Given the description of an element on the screen output the (x, y) to click on. 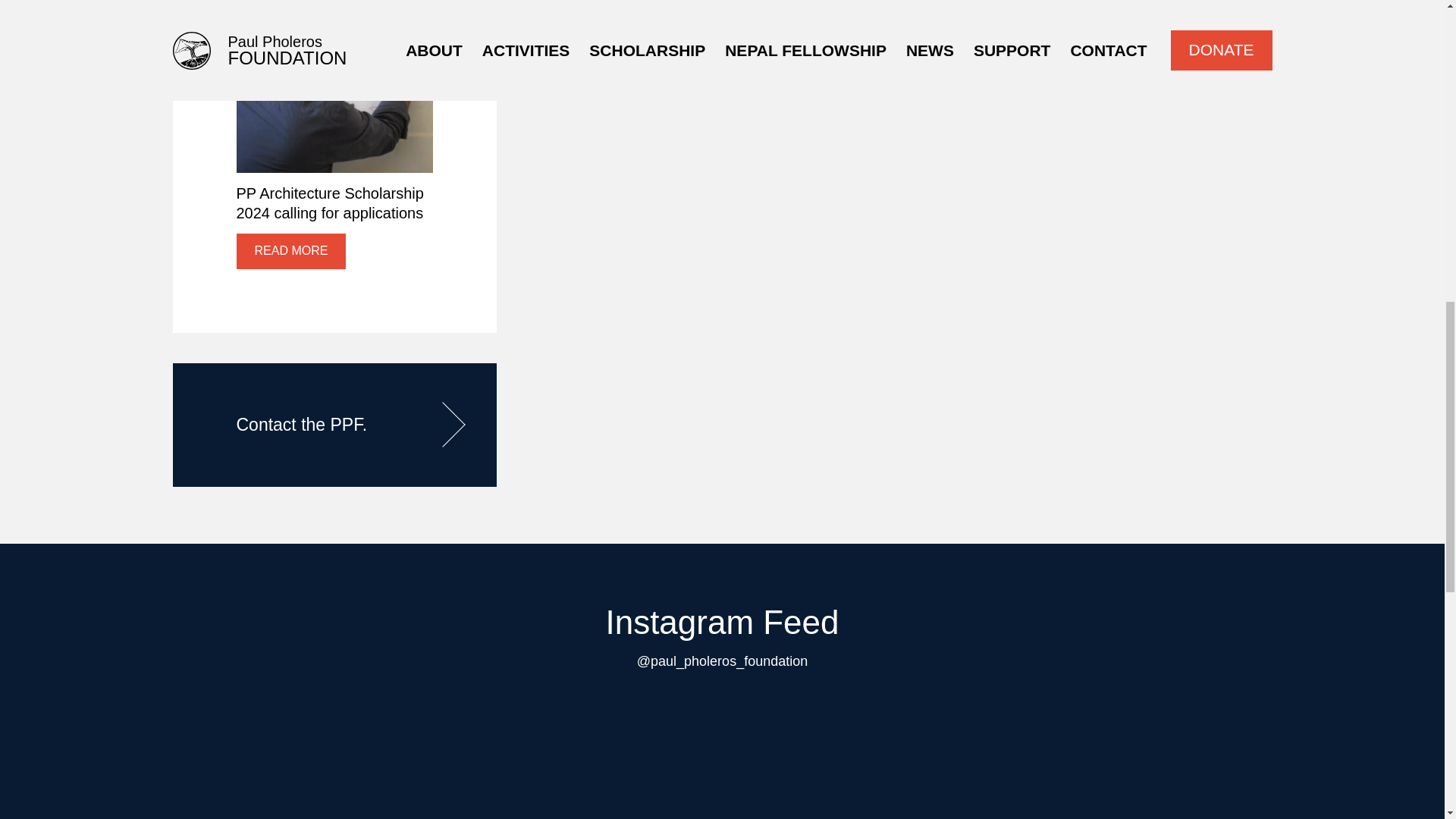
READ MORE (290, 251)
Contact the PPF. (334, 424)
